Given the description of an element on the screen output the (x, y) to click on. 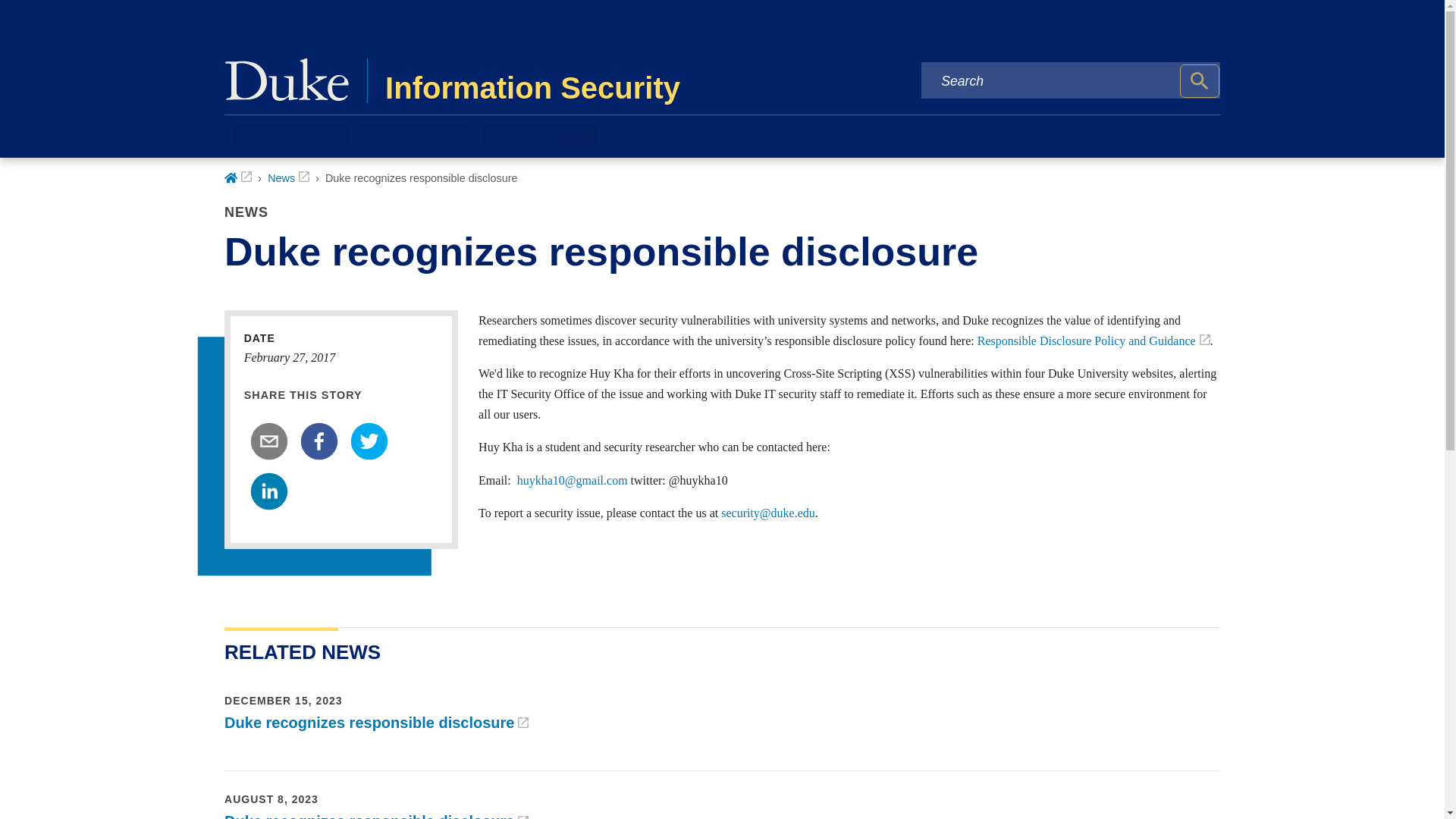
Responsible Disclosure Policy and Guidance (1092, 340)
Duke recognizes responsible disclosure (376, 722)
Responsible Disclosure Policy and Guidance (1092, 340)
Home (237, 177)
Information Security (547, 80)
Duke recognizes responsible disclosure (376, 816)
News (287, 177)
